Given the description of an element on the screen output the (x, y) to click on. 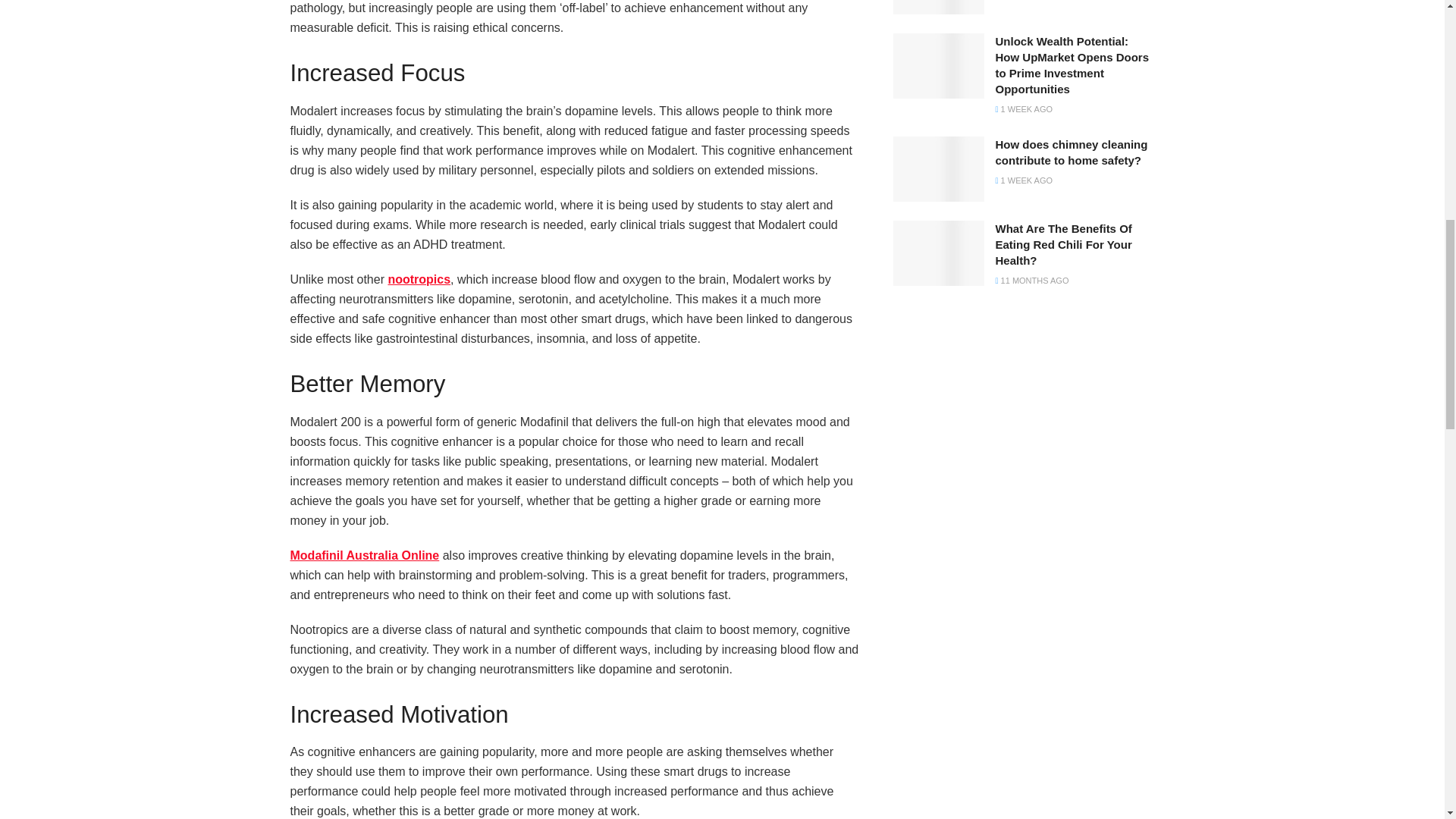
Modafinil Australia Online (364, 554)
nootropics (418, 278)
